Given the description of an element on the screen output the (x, y) to click on. 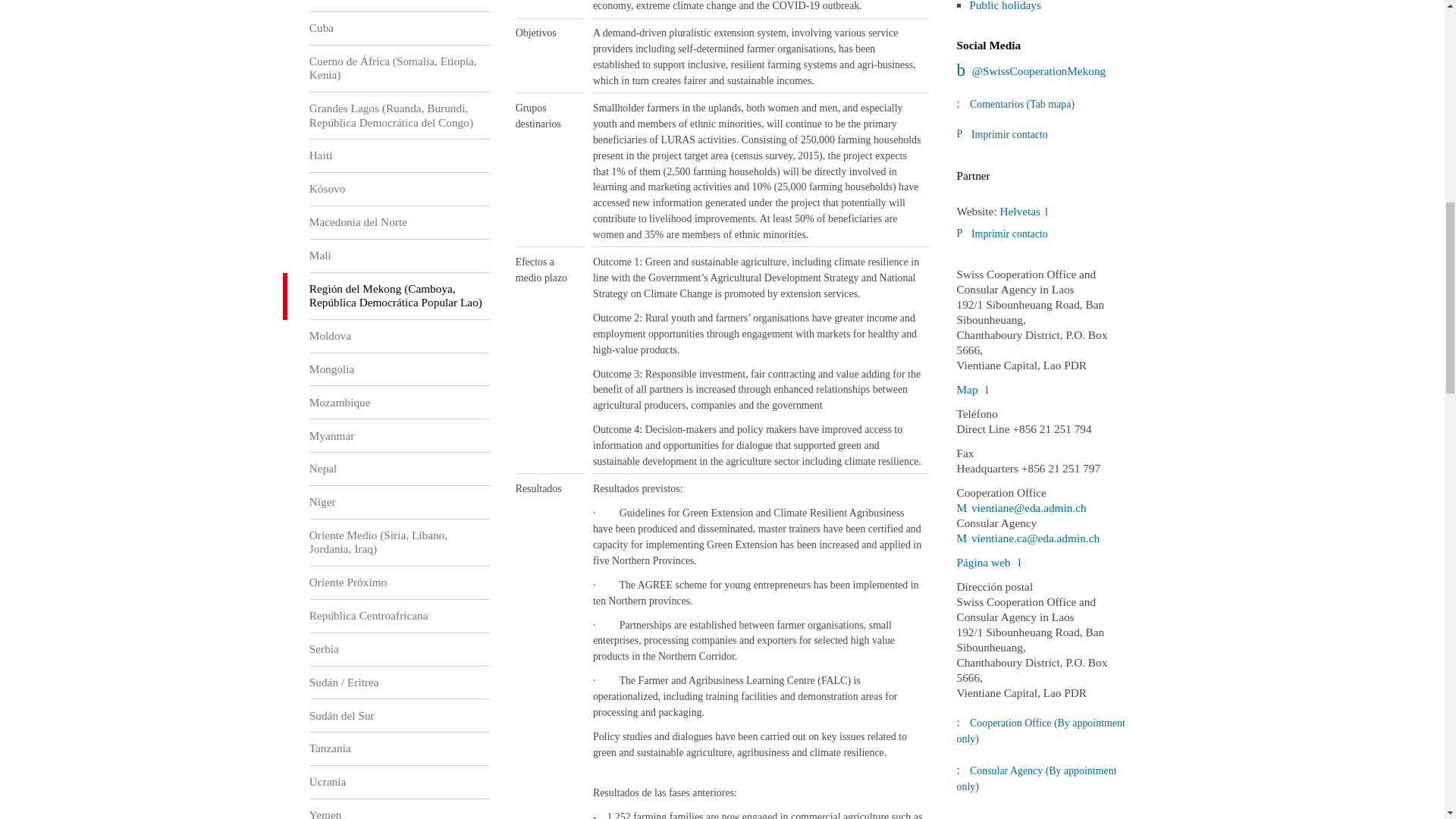
Texto oculto (1023, 210)
Texto oculto (1021, 507)
Texto oculto (1027, 537)
Texto oculto (988, 562)
Texto oculto (972, 389)
Texto oculto (1030, 70)
